Given the description of an element on the screen output the (x, y) to click on. 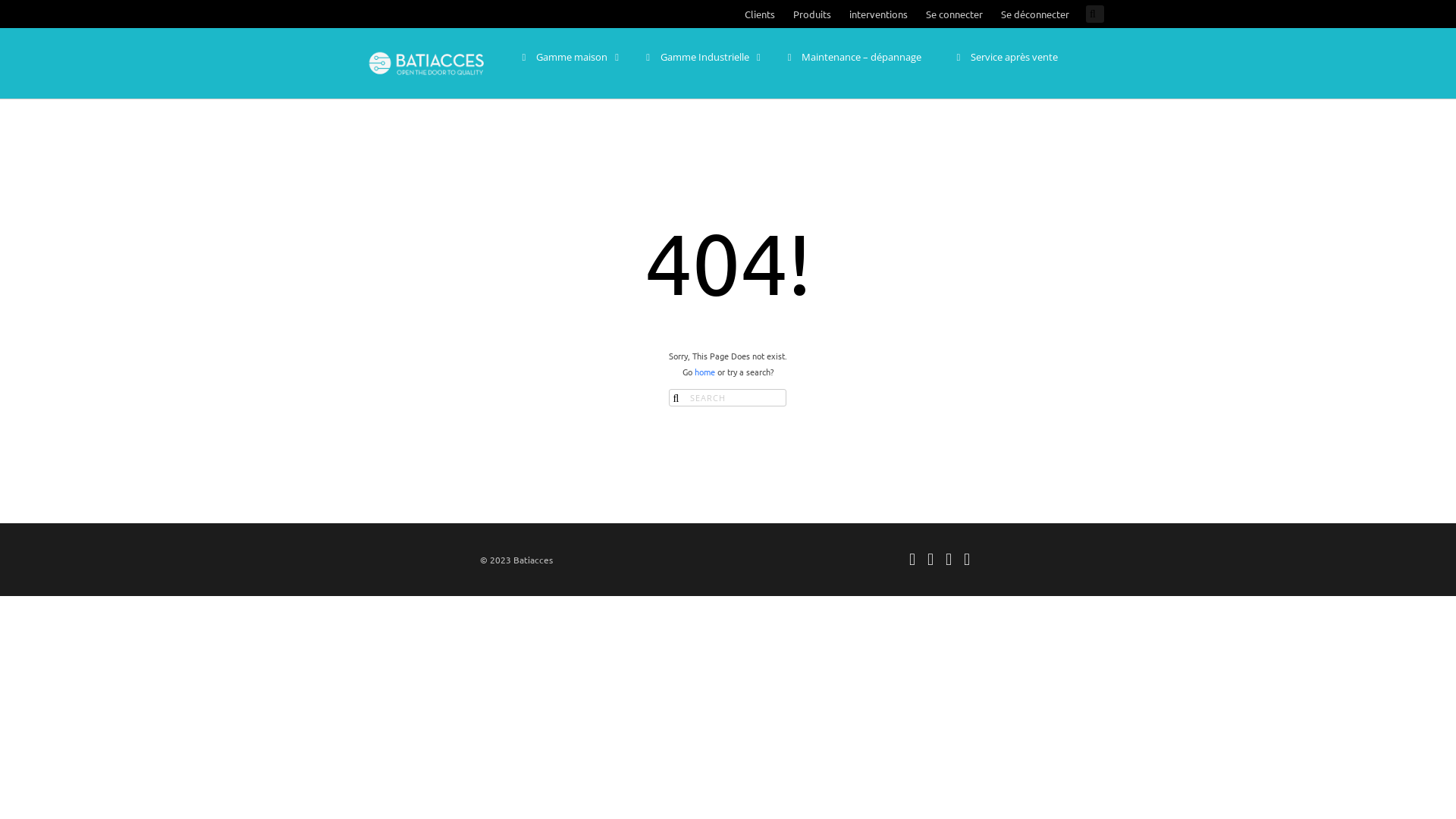
Gamme Industrielle Element type: text (697, 57)
home Element type: text (704, 371)
Clients Element type: text (759, 14)
Se connecter Element type: text (953, 14)
Produits Element type: text (812, 14)
interventions Element type: text (878, 14)
